Given the description of an element on the screen output the (x, y) to click on. 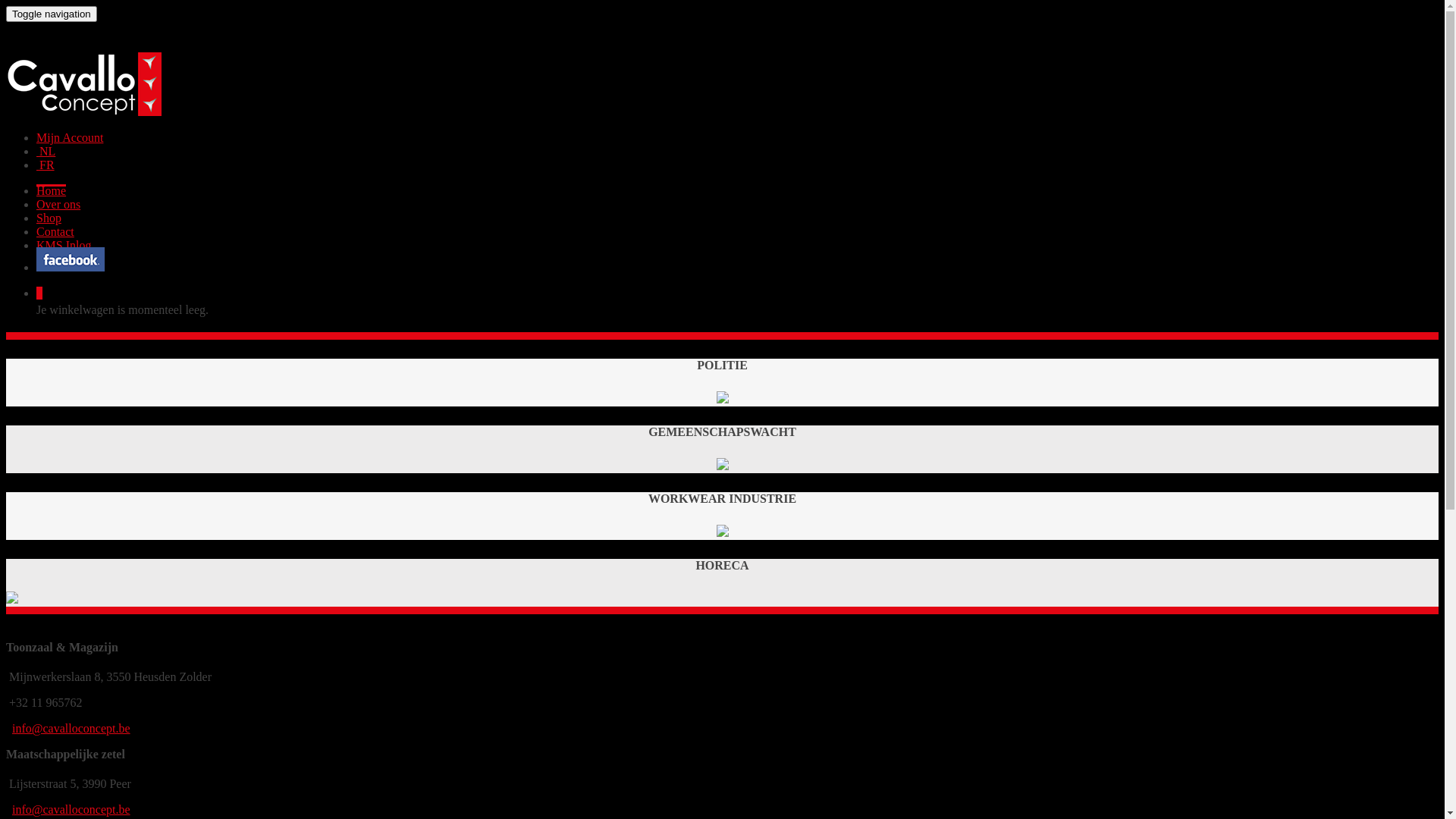
Over ons Element type: text (58, 203)
Contact Element type: text (55, 231)
0 Element type: text (39, 292)
Mijn Account Element type: text (69, 137)
info@cavalloconcept.be Element type: text (71, 727)
Toggle navigation Element type: text (51, 13)
Cavallo Concept Element type: hover (83, 111)
 NL Element type: text (45, 150)
 FR Element type: text (45, 164)
KMS Inlog Element type: text (63, 244)
info@cavalloconcept.be Element type: text (71, 809)
Shop Element type: text (48, 217)
Home Element type: text (50, 190)
